Given the description of an element on the screen output the (x, y) to click on. 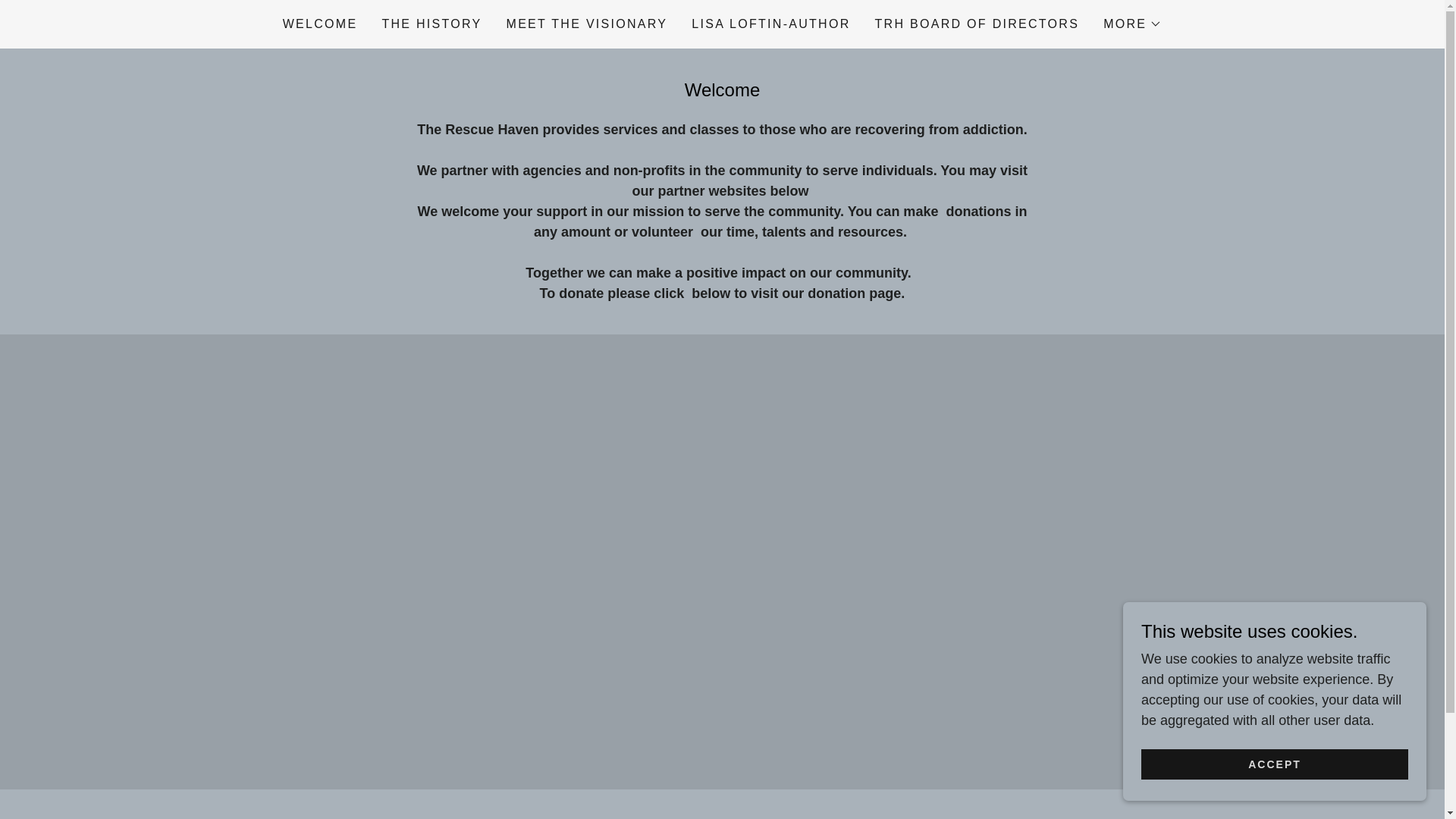
ACCEPT (1274, 764)
WELCOME (320, 23)
LISA LOFTIN-AUTHOR (770, 23)
THE HISTORY (431, 23)
TRH BOARD OF DIRECTORS (977, 23)
MORE (1132, 24)
MEET THE VISIONARY (587, 23)
